Given the description of an element on the screen output the (x, y) to click on. 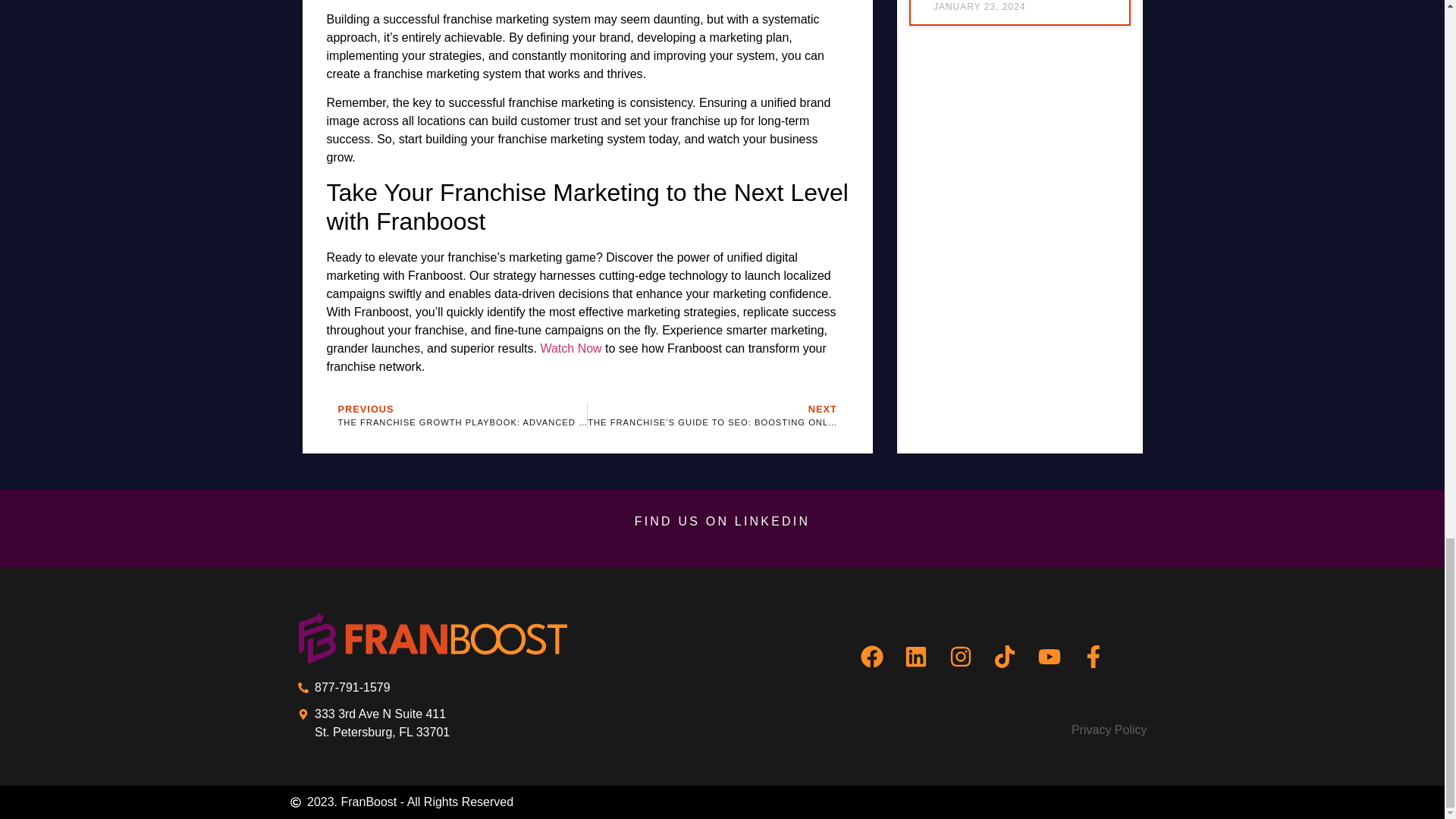
Watch Now (570, 348)
Privacy Policy (981, 730)
FIND US ON LINKEDIN (722, 521)
franchise marketing systems - franboost (431, 637)
